Given the description of an element on the screen output the (x, y) to click on. 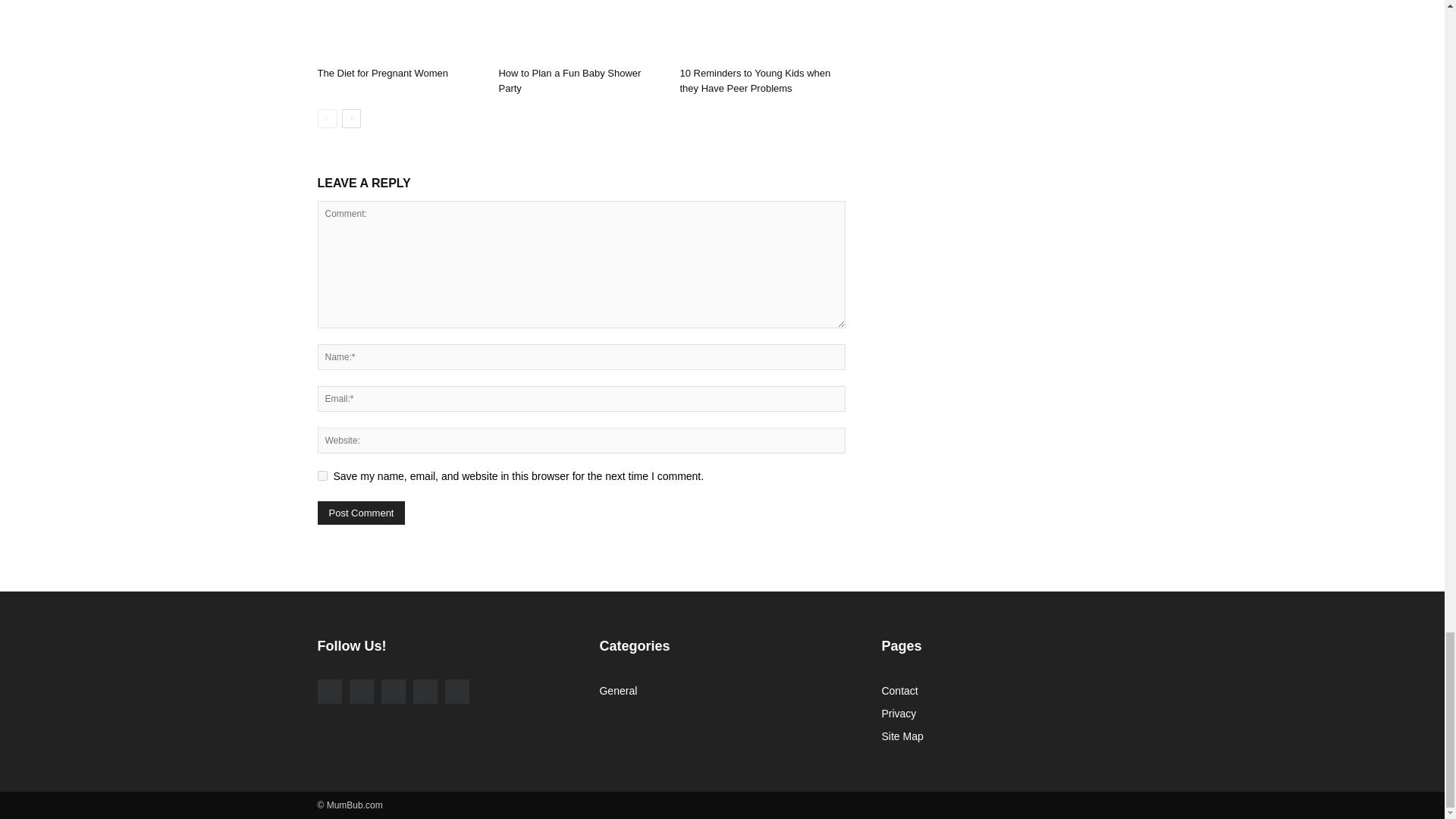
Follow Us on Twitter (392, 691)
How to Plan a Fun Baby Shower Party (580, 30)
How to Plan a Fun Baby Shower Party (568, 80)
10 Reminders to Young Kids when they Have Peer Problems (754, 80)
yes (321, 475)
Follow Us on Facebook (328, 691)
The Diet for Pregnant Women (381, 72)
10 Reminders to Young Kids when they Have Peer Problems (761, 30)
The Diet for Pregnant Women (399, 30)
Post Comment (360, 512)
